Given the description of an element on the screen output the (x, y) to click on. 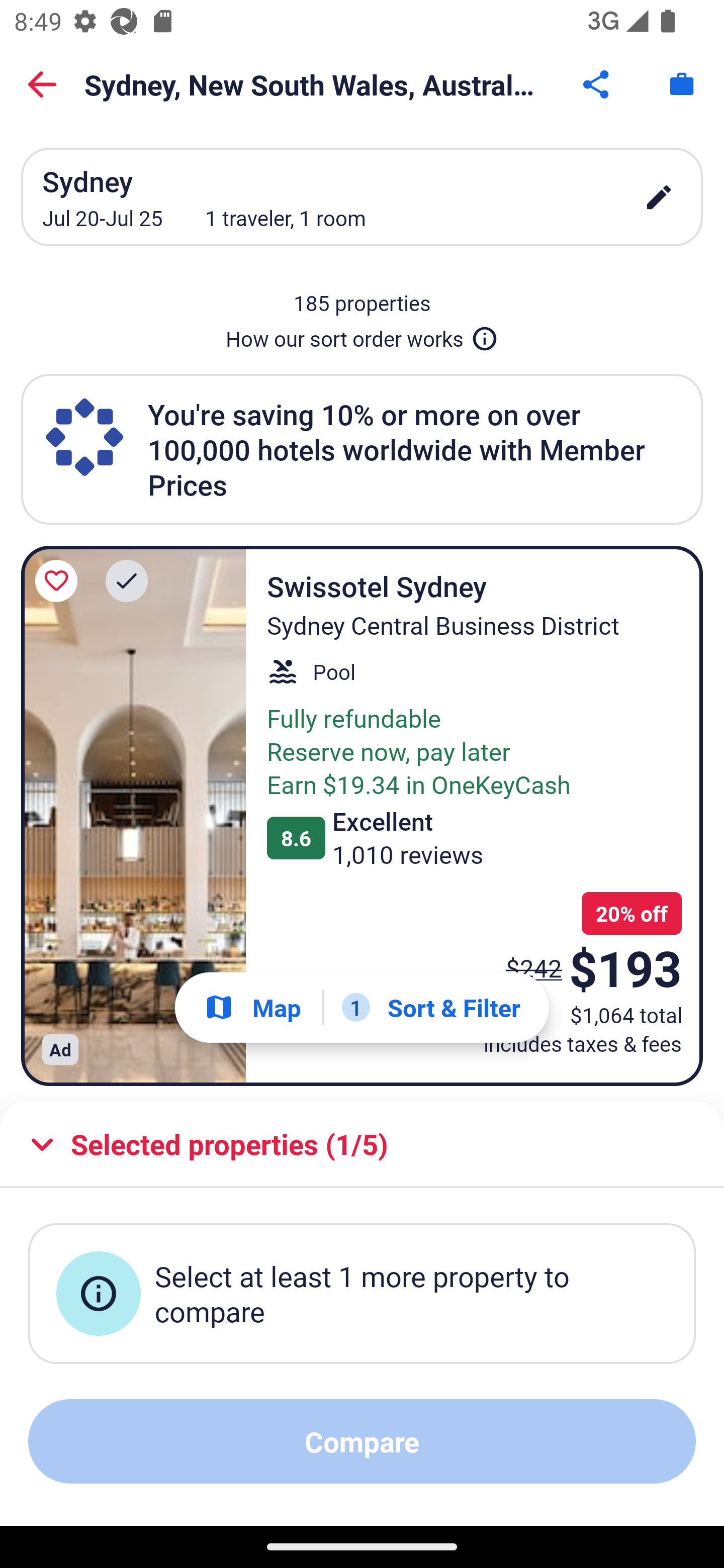
Back (42, 84)
Share Button (597, 84)
Trips. Button (681, 84)
Sydney Jul 20-Jul 25 1 traveler, 1 room edit (361, 196)
How our sort order works (361, 334)
Save Swissotel Sydney to a trip (59, 580)
Swissotel Sydney (133, 815)
$242 The price was $242 (533, 967)
1 Sort & Filter 1 Filter applied. Filters Button (430, 1007)
Show map Map Show map Button (252, 1006)
Compare Properties Compare (361, 1440)
